Given the description of an element on the screen output the (x, y) to click on. 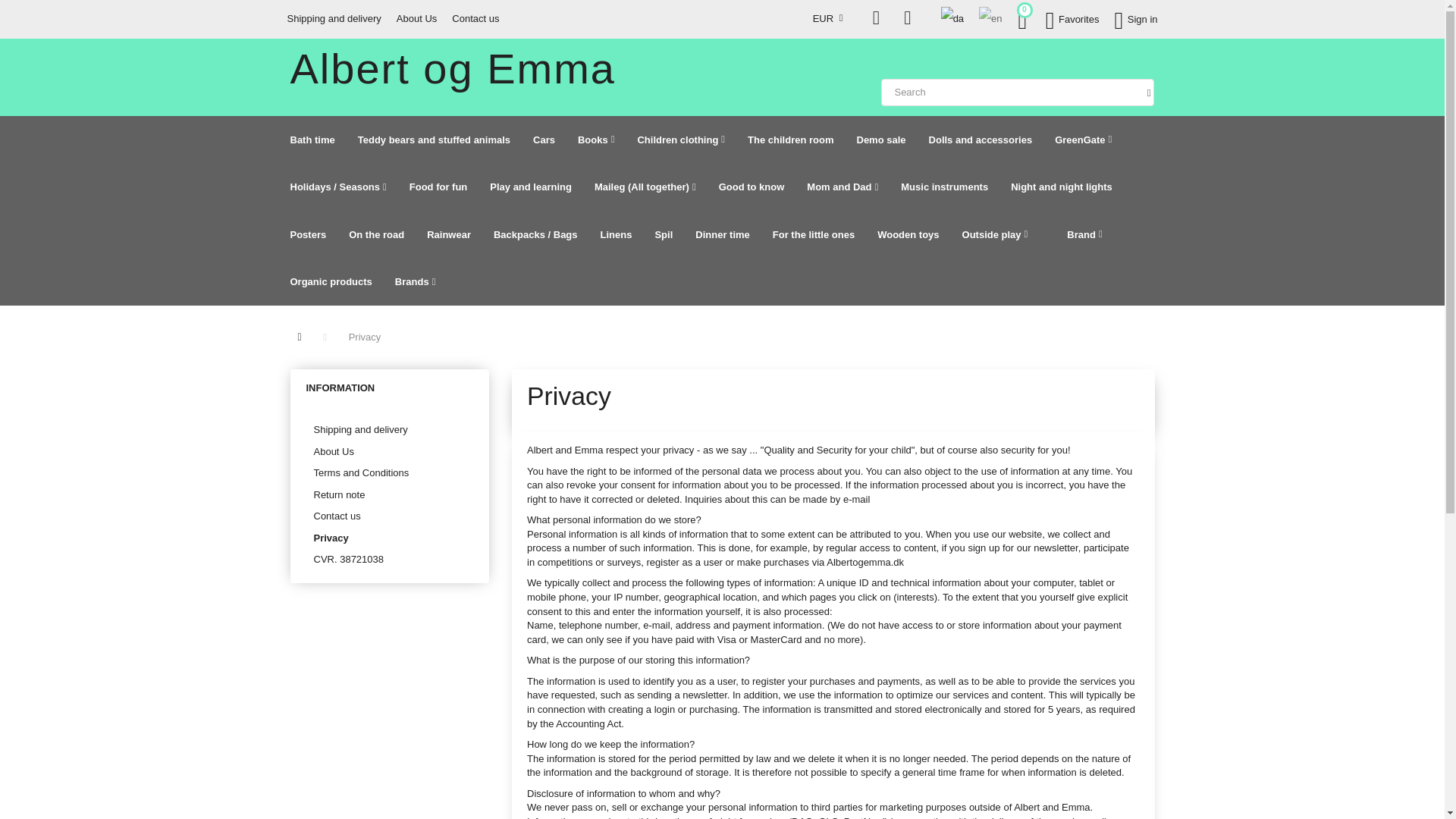
About Us (416, 18)
Login (1135, 18)
Books (596, 139)
en (990, 18)
Albert og Emma (452, 68)
Sign in (1135, 18)
Favorites (1072, 18)
Favorites (1072, 18)
Contact us (475, 18)
Bath time (312, 139)
Shipping and delivery (333, 18)
da (952, 18)
EUR (831, 18)
Teddy bears and stuffed animals (433, 139)
Cars (543, 139)
